Given the description of an element on the screen output the (x, y) to click on. 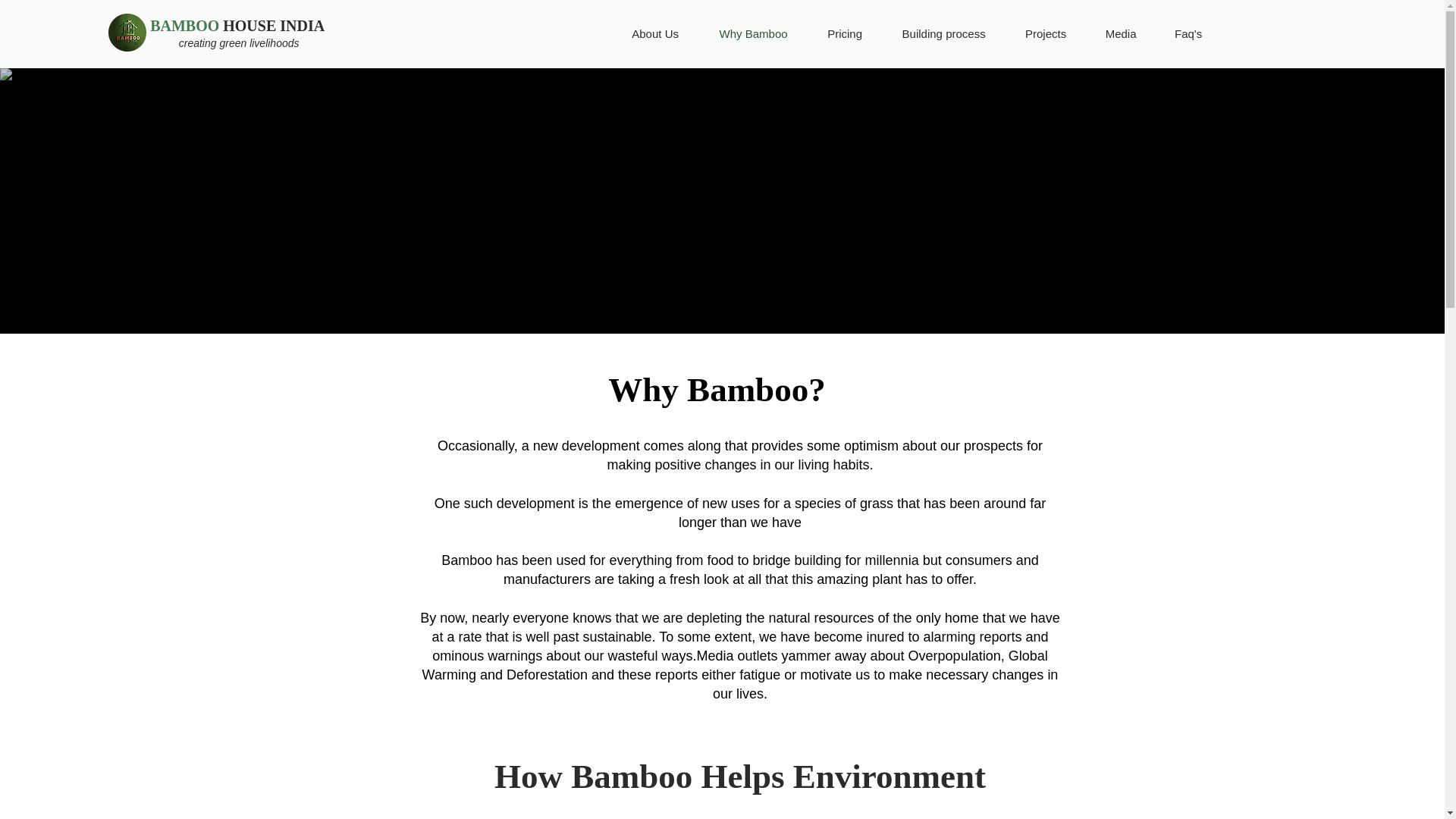
Home (127, 32)
Why Bamboo (753, 34)
Faq's (1188, 34)
Media (1121, 34)
About Us (654, 34)
Projects (1046, 34)
creating green livelihoods (239, 42)
Building process (944, 34)
BAMBOO HOUSE INDIA (236, 25)
